Given the description of an element on the screen output the (x, y) to click on. 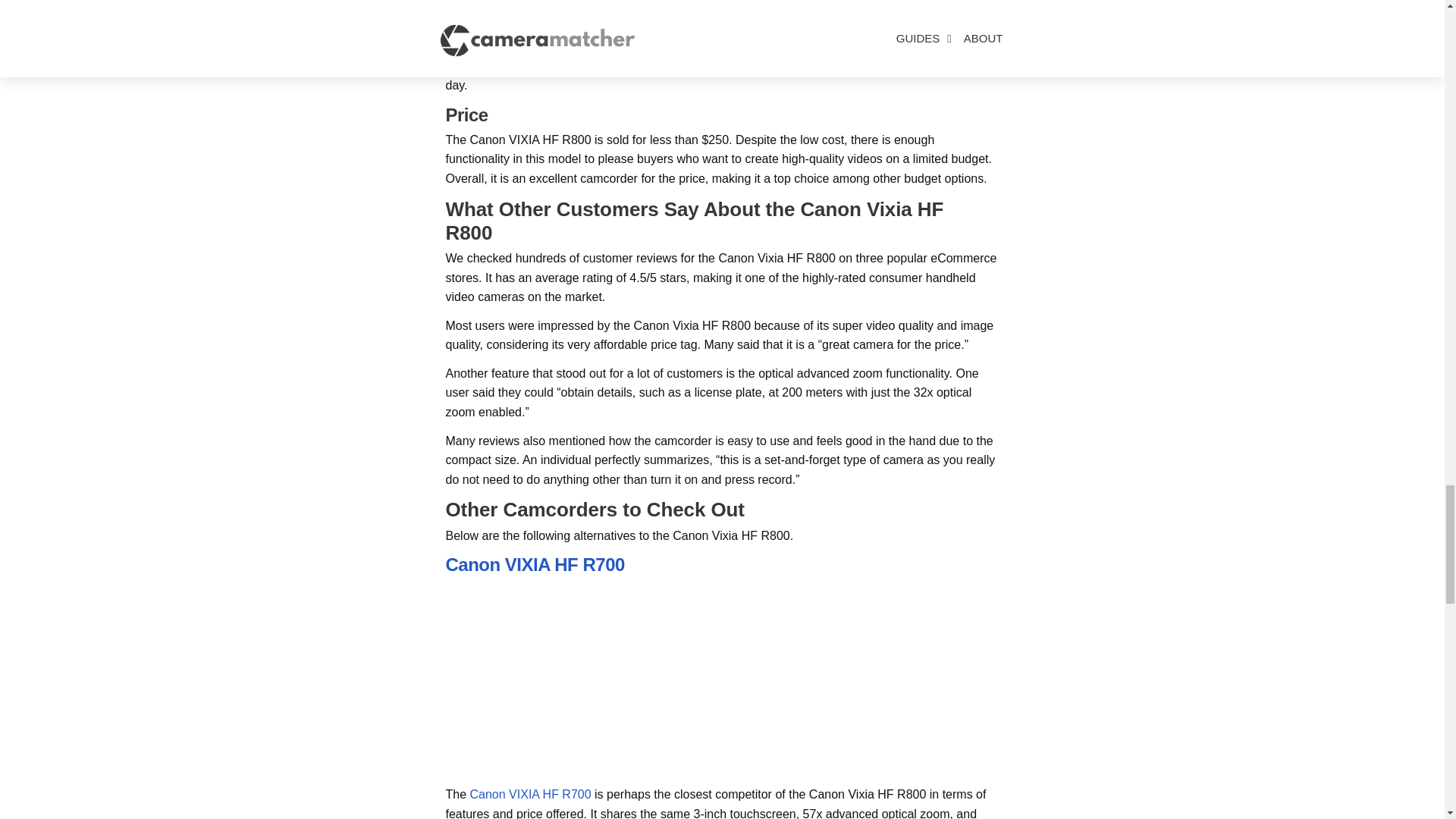
Canon VIXIA HF R700 (530, 793)
Canon VIXIA HF R700 (534, 564)
